Given the description of an element on the screen output the (x, y) to click on. 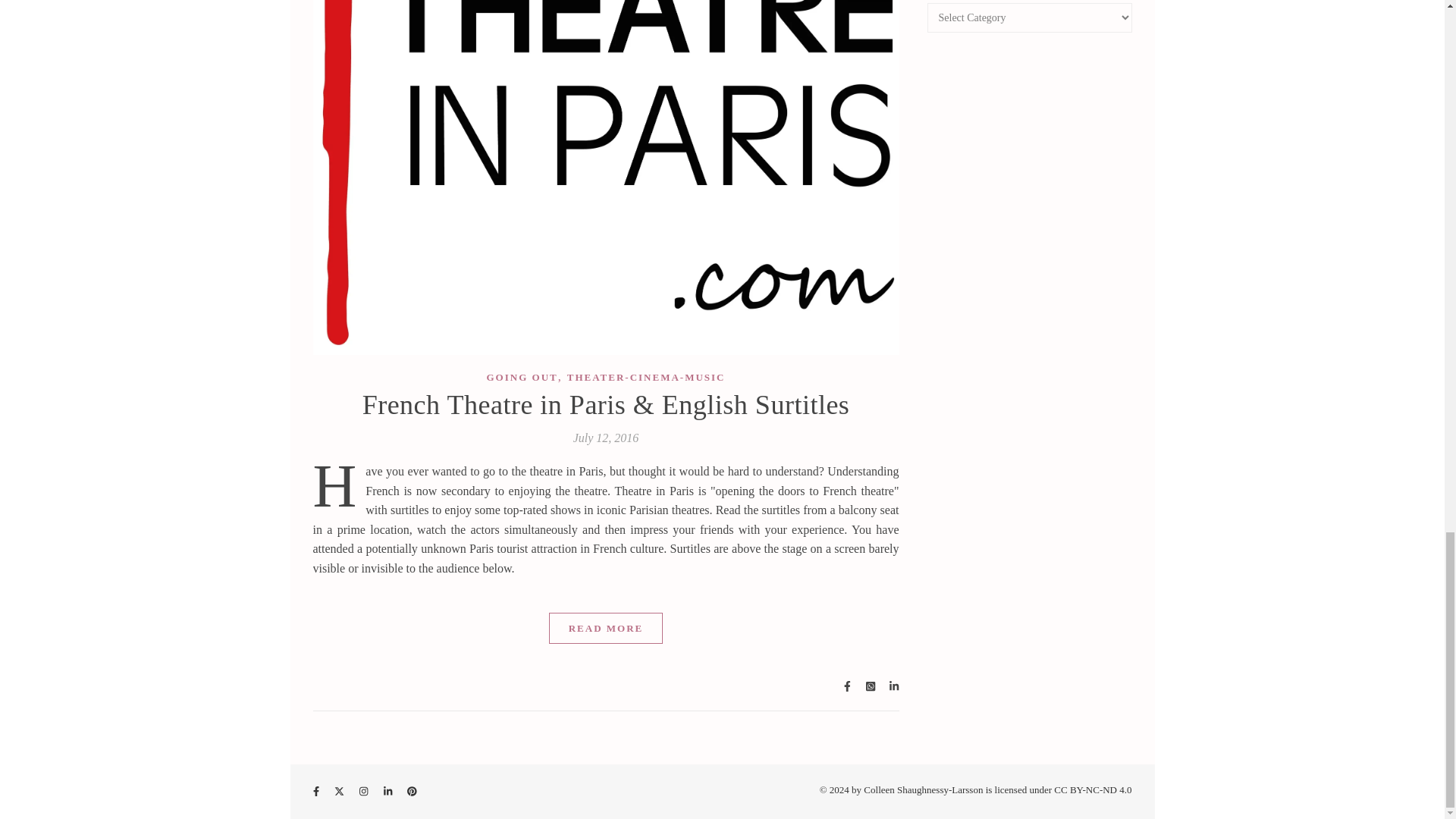
READ MORE (605, 627)
THEATER-CINEMA-MUSIC (646, 377)
GOING OUT (521, 377)
